Given the description of an element on the screen output the (x, y) to click on. 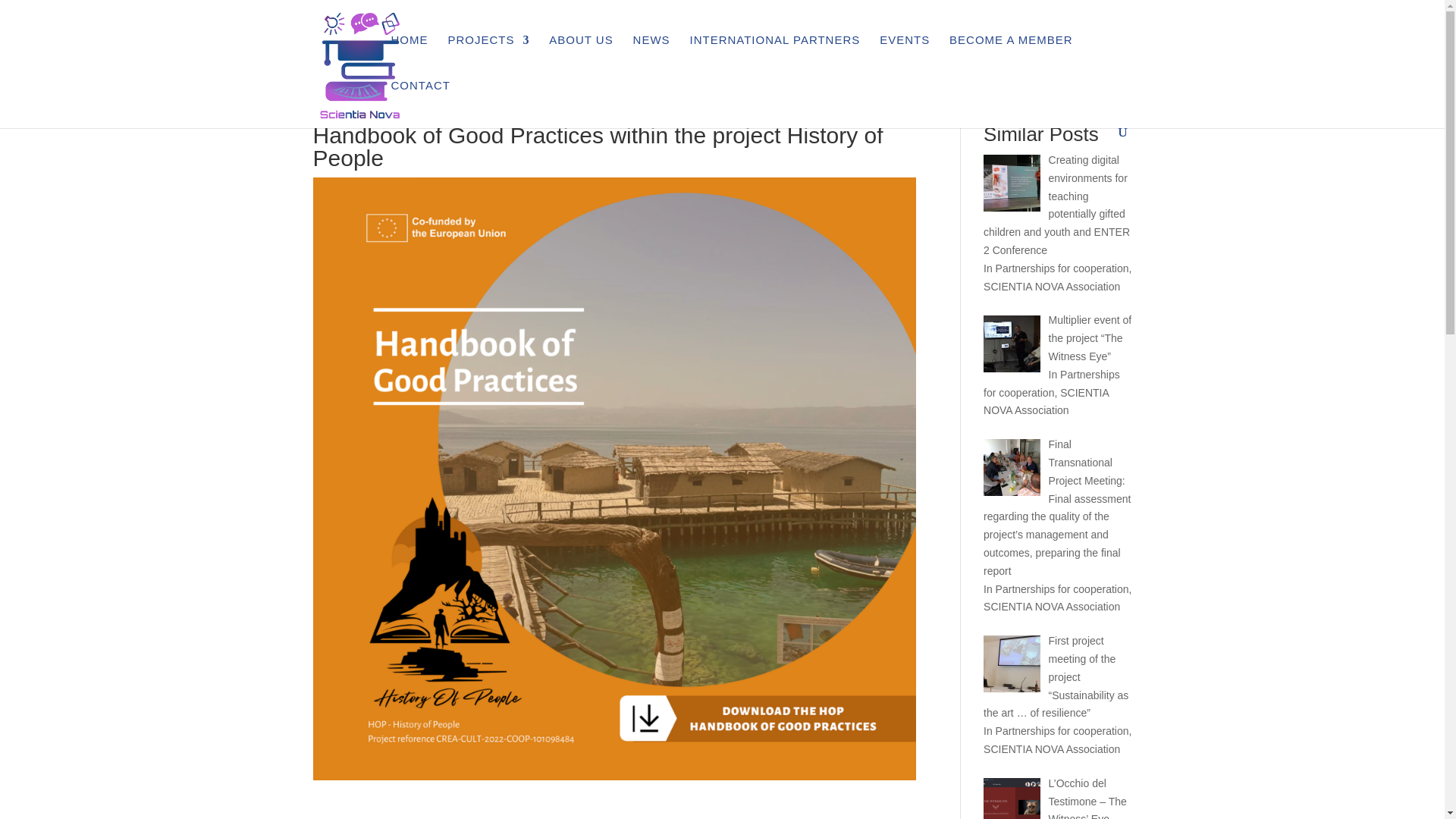
PROJECTS (487, 57)
ABOUT US (580, 57)
CONTACT (420, 103)
EVENTS (904, 57)
INTERNATIONAL PARTNERS (774, 57)
BECOME A MEMBER (1011, 57)
